Given the description of an element on the screen output the (x, y) to click on. 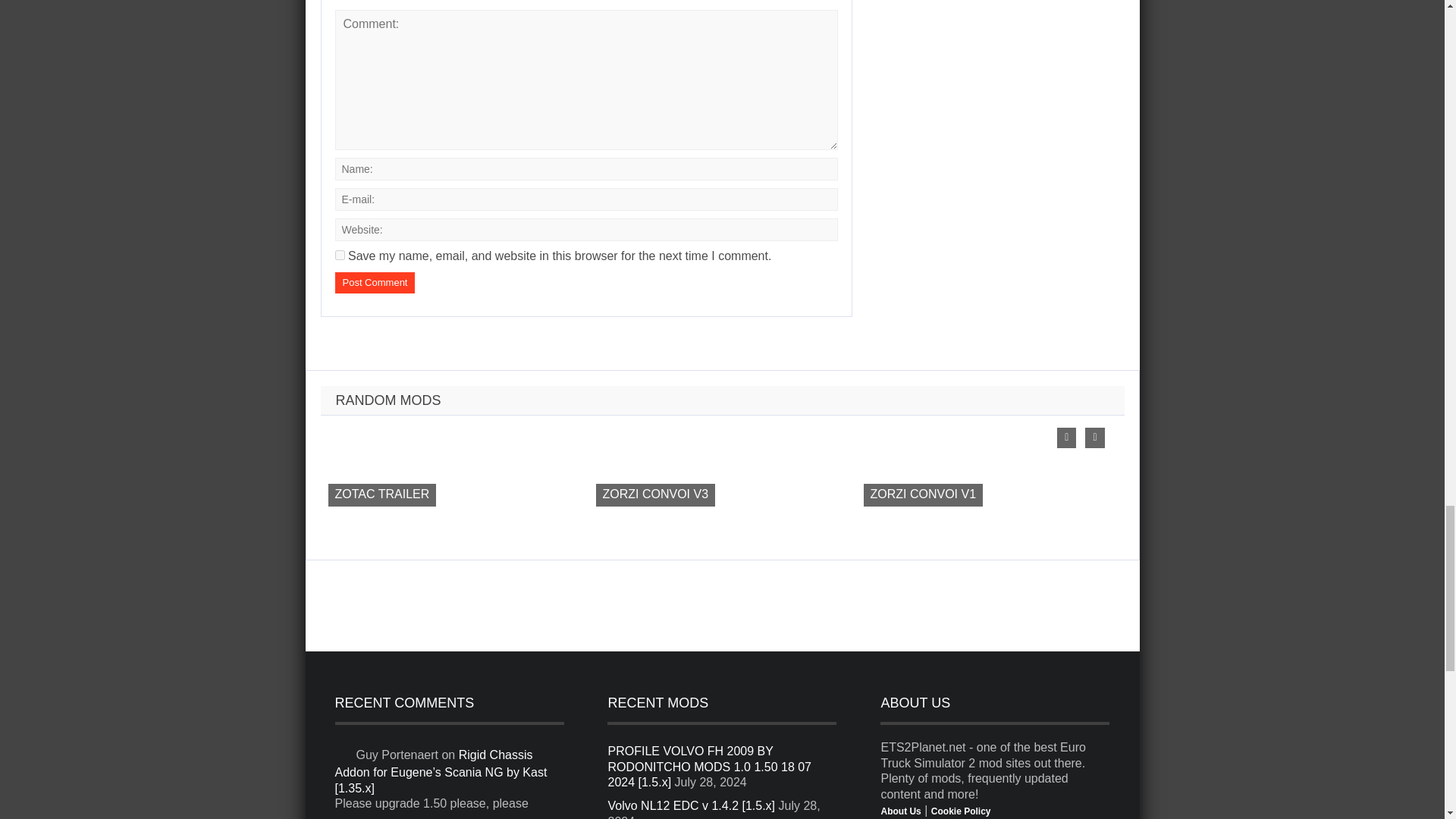
Post Comment (374, 282)
yes (339, 255)
